Given the description of an element on the screen output the (x, y) to click on. 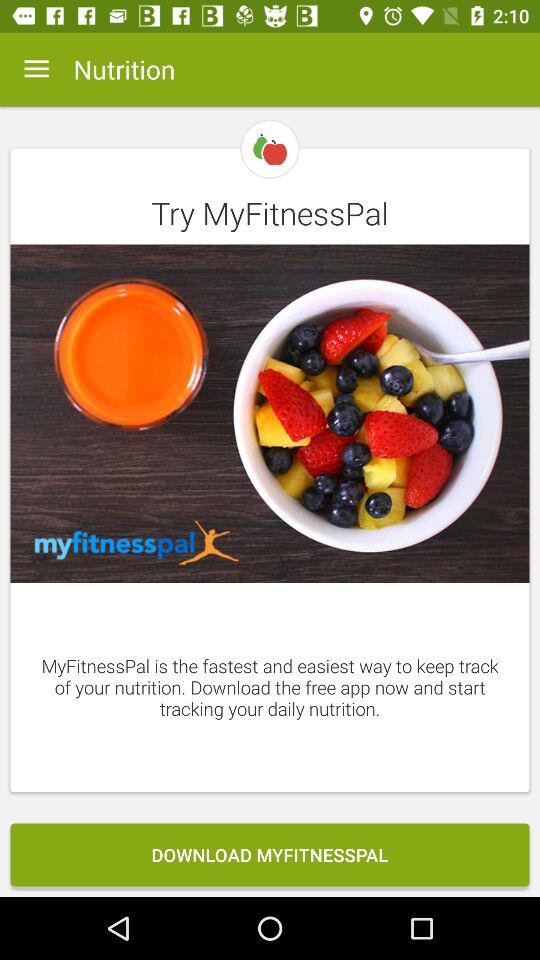
open the item next to the nutrition item (36, 69)
